Given the description of an element on the screen output the (x, y) to click on. 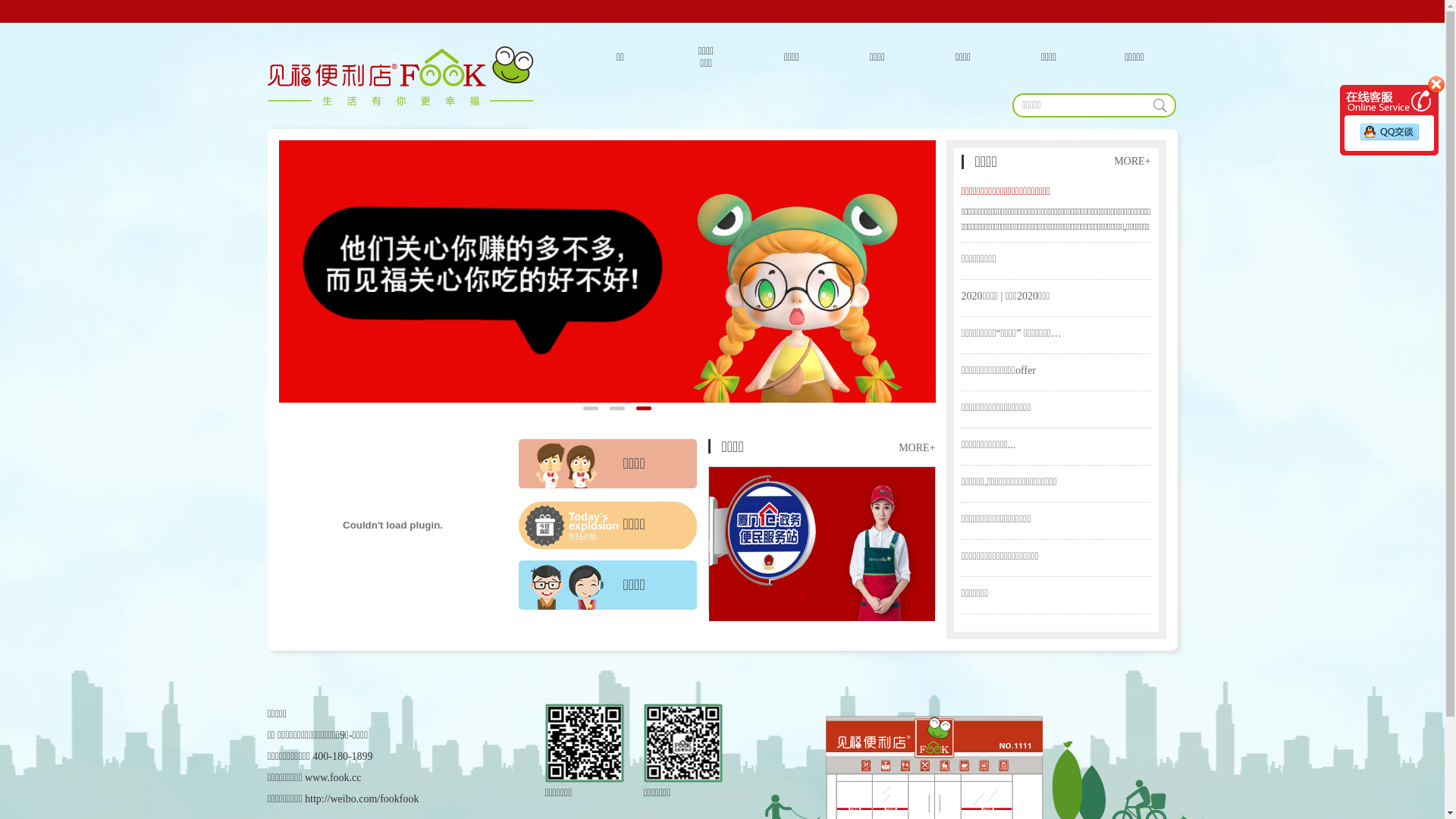
MORE+ Element type: text (1131, 161)
MORE+ Element type: text (916, 448)
